Given the description of an element on the screen output the (x, y) to click on. 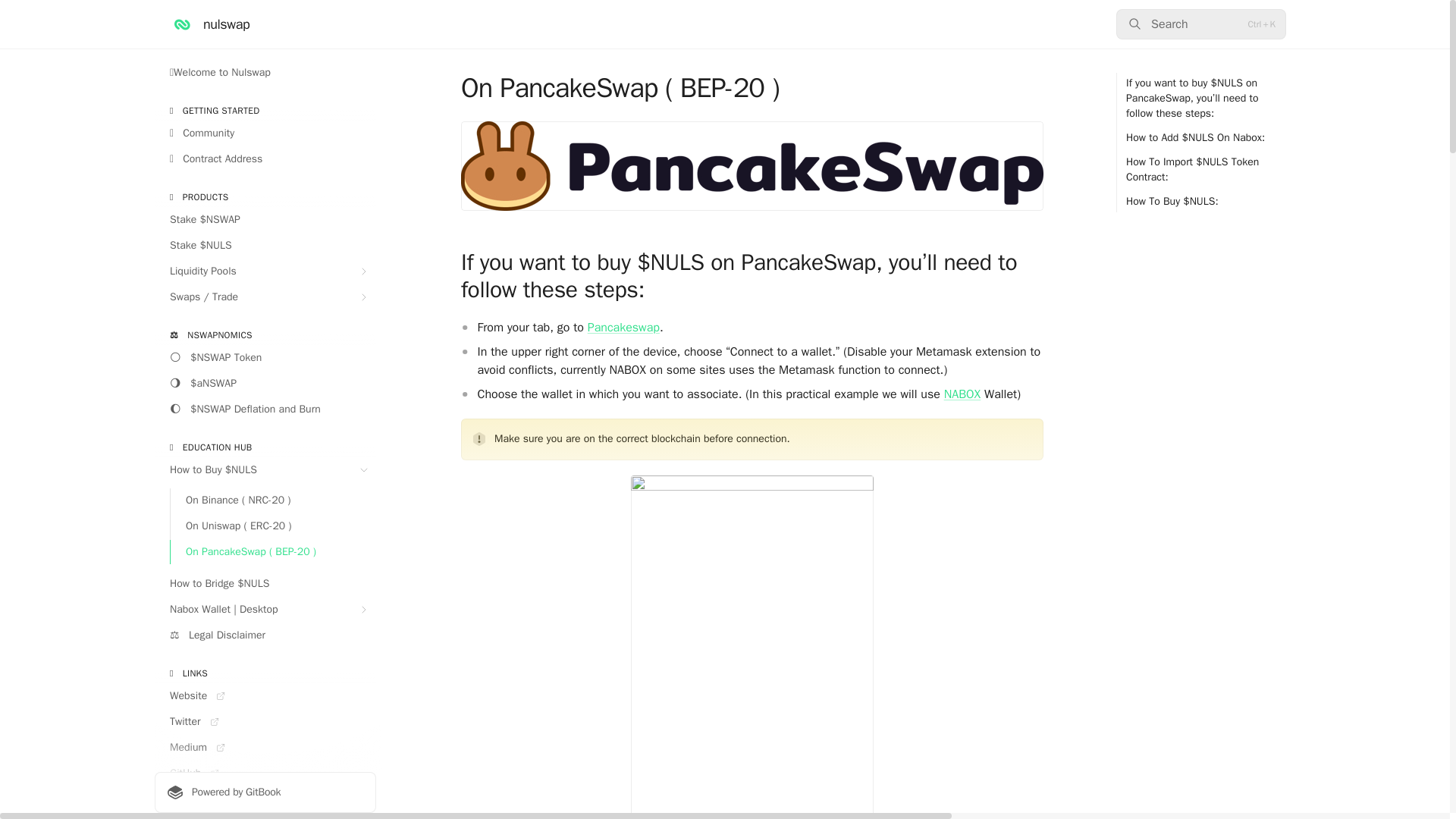
Telegram (264, 799)
Website (264, 695)
Pancakeswap (623, 327)
Powered by GitBook (264, 792)
NABOX (962, 394)
Twitter (264, 721)
Telegram Community (264, 816)
Medium (264, 747)
Liquidity Pools (264, 271)
nulswap (209, 24)
GitHub (264, 773)
